Given the description of an element on the screen output the (x, y) to click on. 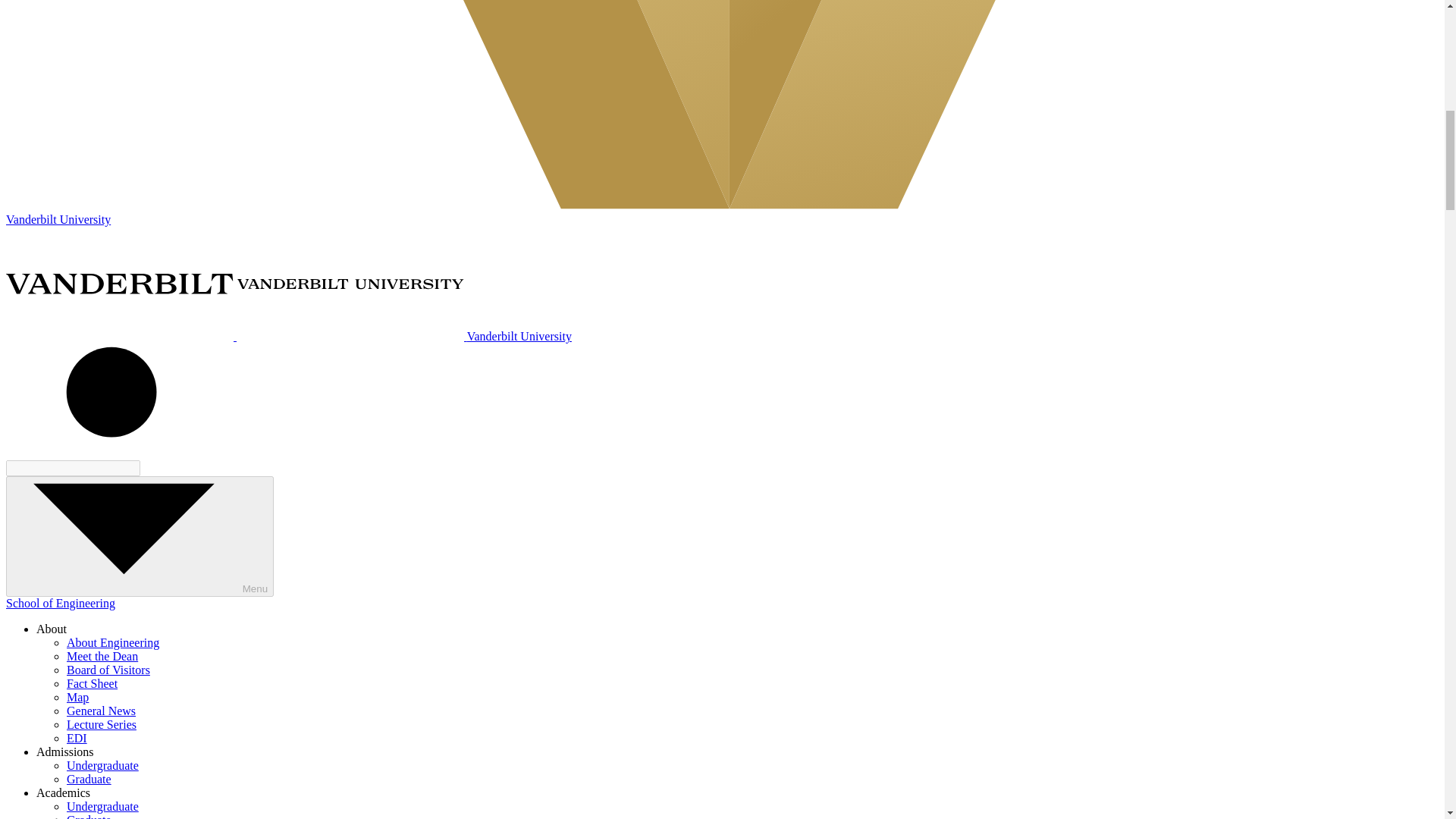
Academics (63, 792)
Menu (139, 536)
Undergraduate (102, 806)
About (51, 628)
Vanderbilt University (288, 336)
General News (100, 710)
Fact Sheet (91, 683)
Meet the Dean (102, 656)
Graduate (89, 816)
Graduate (89, 779)
